Given the description of an element on the screen output the (x, y) to click on. 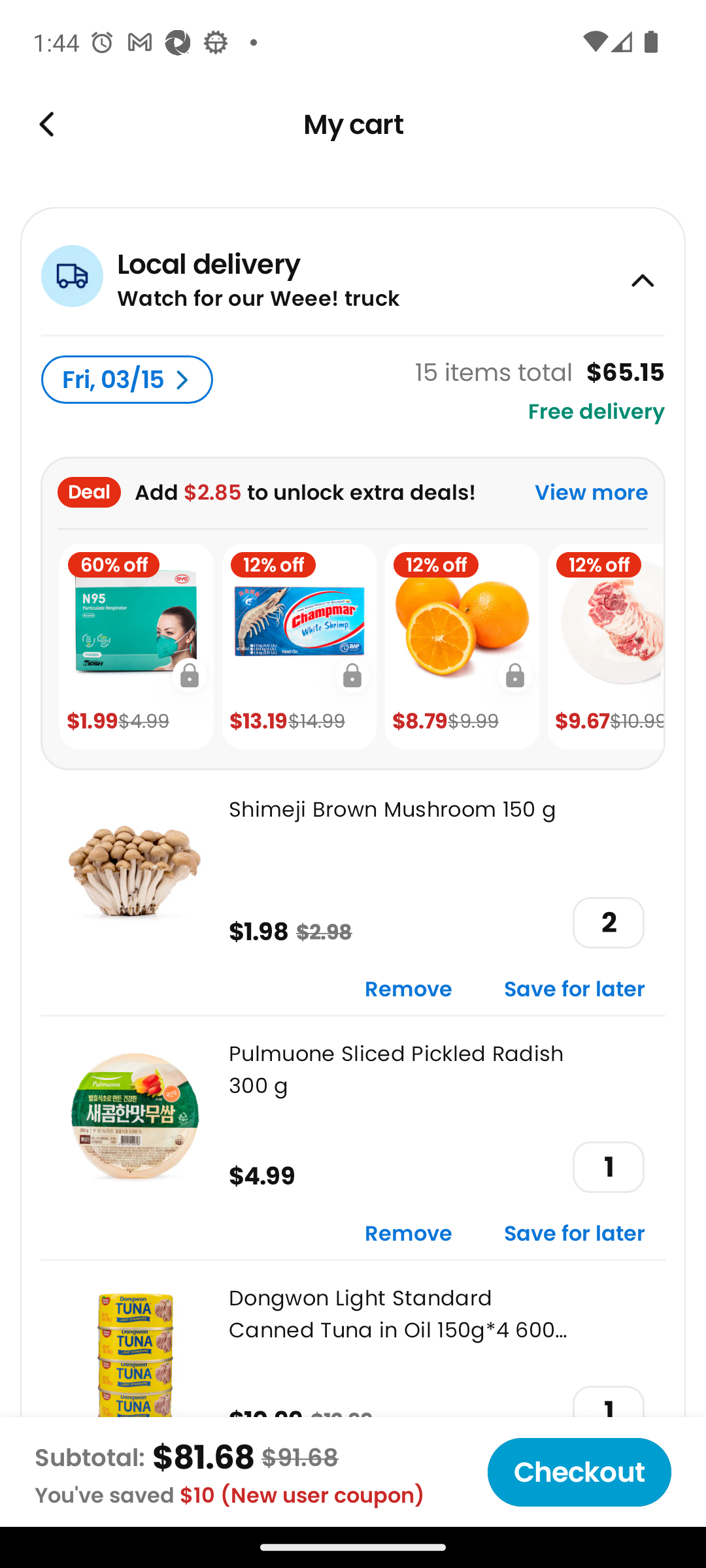
Local delivery Watch for our Weee! truck (352, 269)
Fri, 03/15 (126, 379)
60% off $1.99 $4.99 (136, 646)
12% off $13.19 $14.99 (299, 646)
12% off $8.79 $9.99 (461, 646)
12% off $9.67 $10.99 (605, 646)
2 (608, 922)
Remove (408, 989)
Save for later (574, 989)
1 (608, 1167)
Remove (408, 1234)
Save for later (574, 1234)
Checkout (579, 1471)
